Given the description of an element on the screen output the (x, y) to click on. 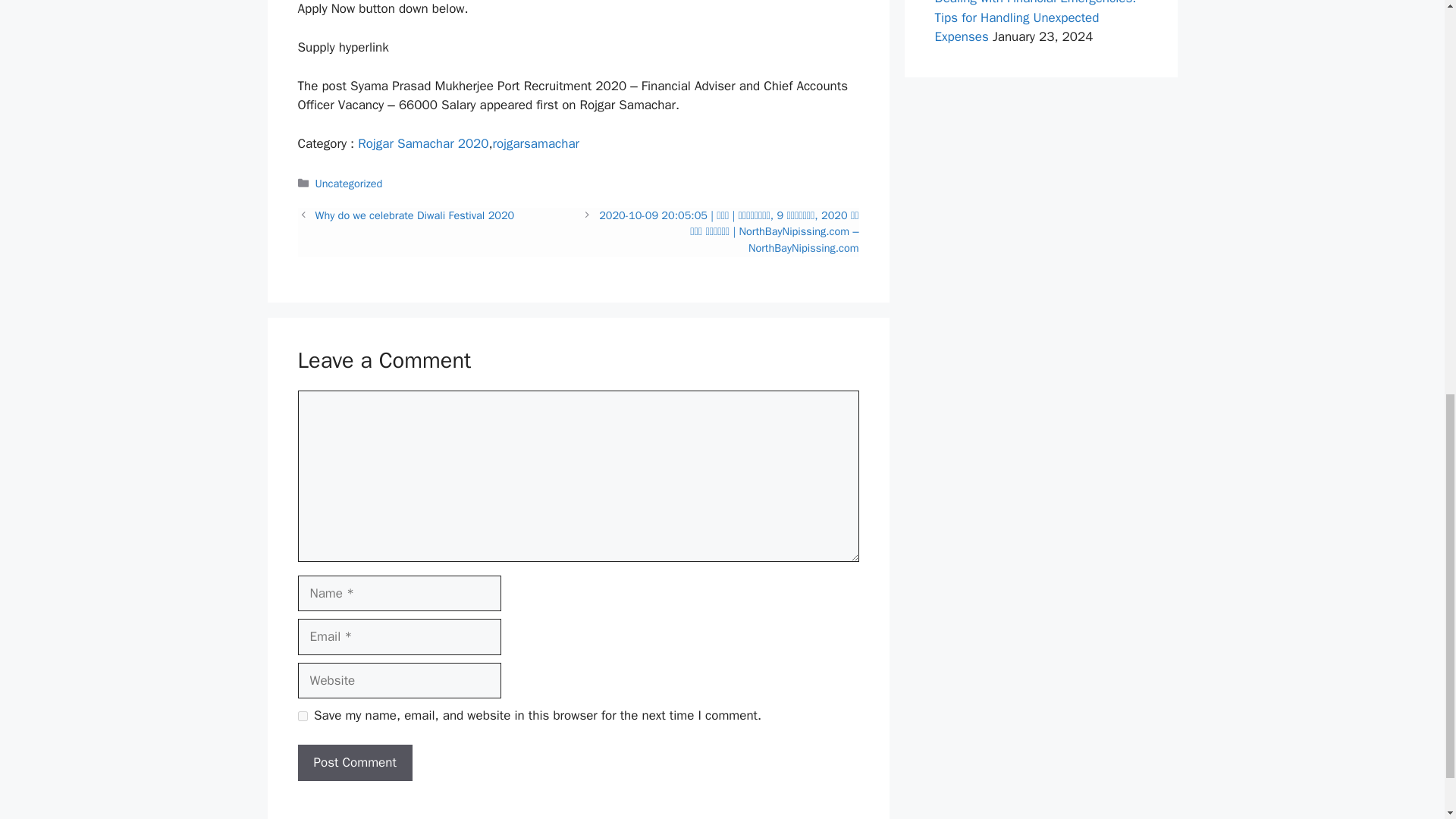
Why do we celebrate Diwali Festival 2020 (415, 214)
Post Comment (354, 762)
Scroll back to top (1406, 720)
Uncategorized (348, 183)
Rojgar Samachar 2020 (422, 143)
rojgarsamachar (536, 143)
yes (302, 716)
Post Comment (354, 762)
